Given the description of an element on the screen output the (x, y) to click on. 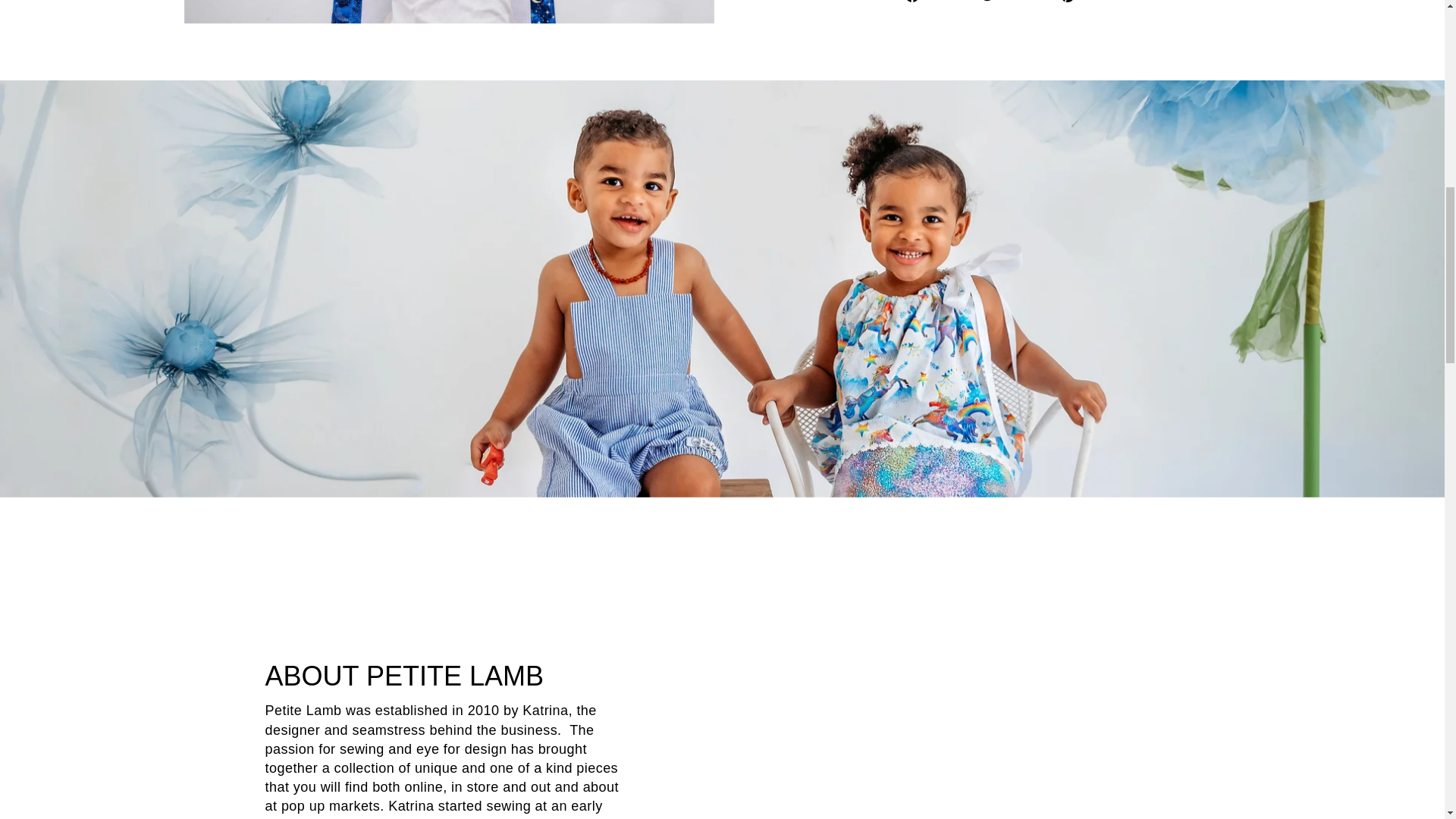
Pin on Pinterest (1090, 2)
Tweet on Twitter (1014, 2)
Share on Facebook (937, 2)
